Given the description of an element on the screen output the (x, y) to click on. 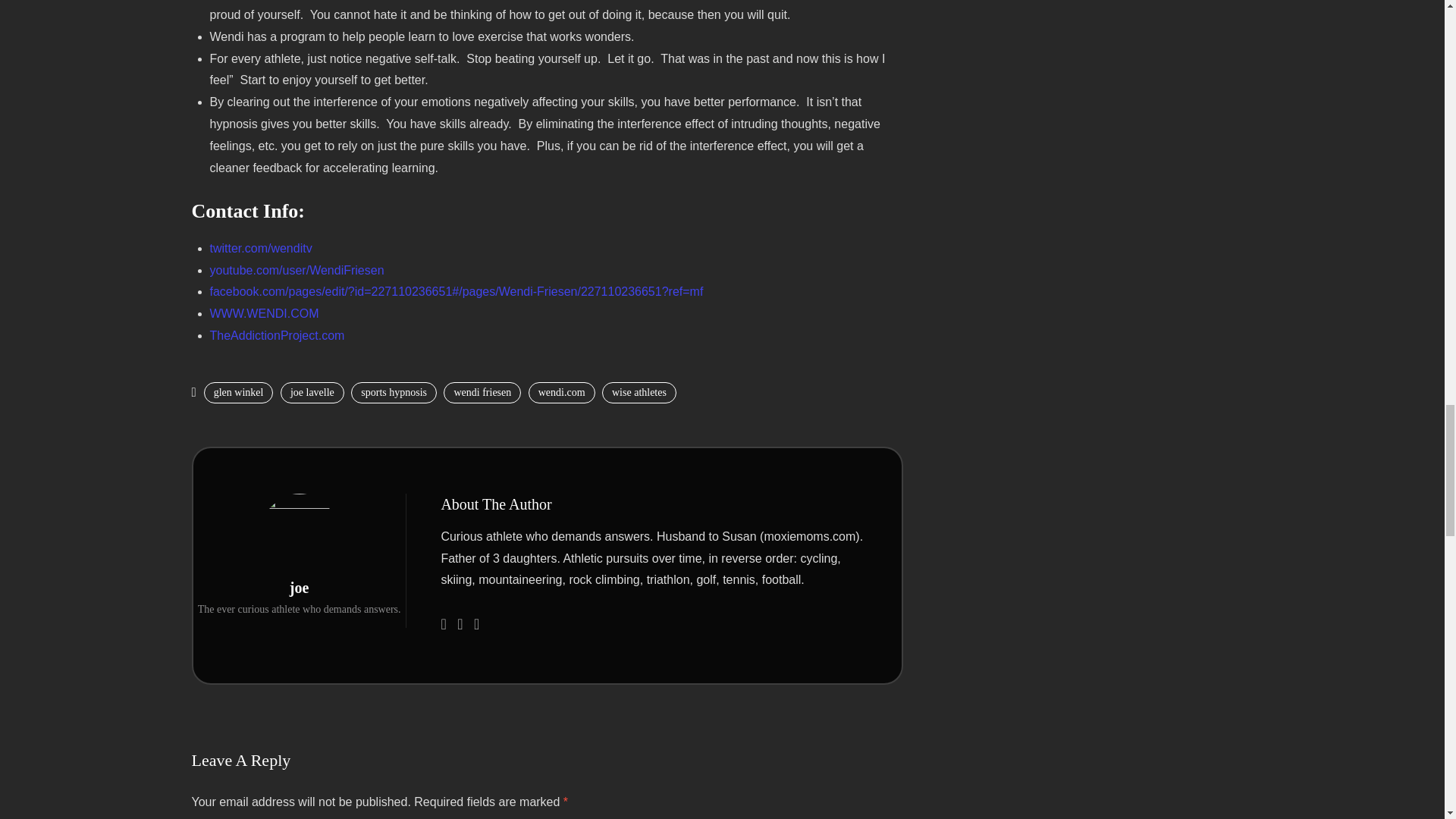
joe lavelle (312, 392)
Posts by joe (298, 587)
wendi friesen (482, 392)
TheAddictionProject.com (276, 335)
glen winkel (238, 392)
WWW.WENDI.COM (263, 313)
sports hypnosis (393, 392)
